Given the description of an element on the screen output the (x, y) to click on. 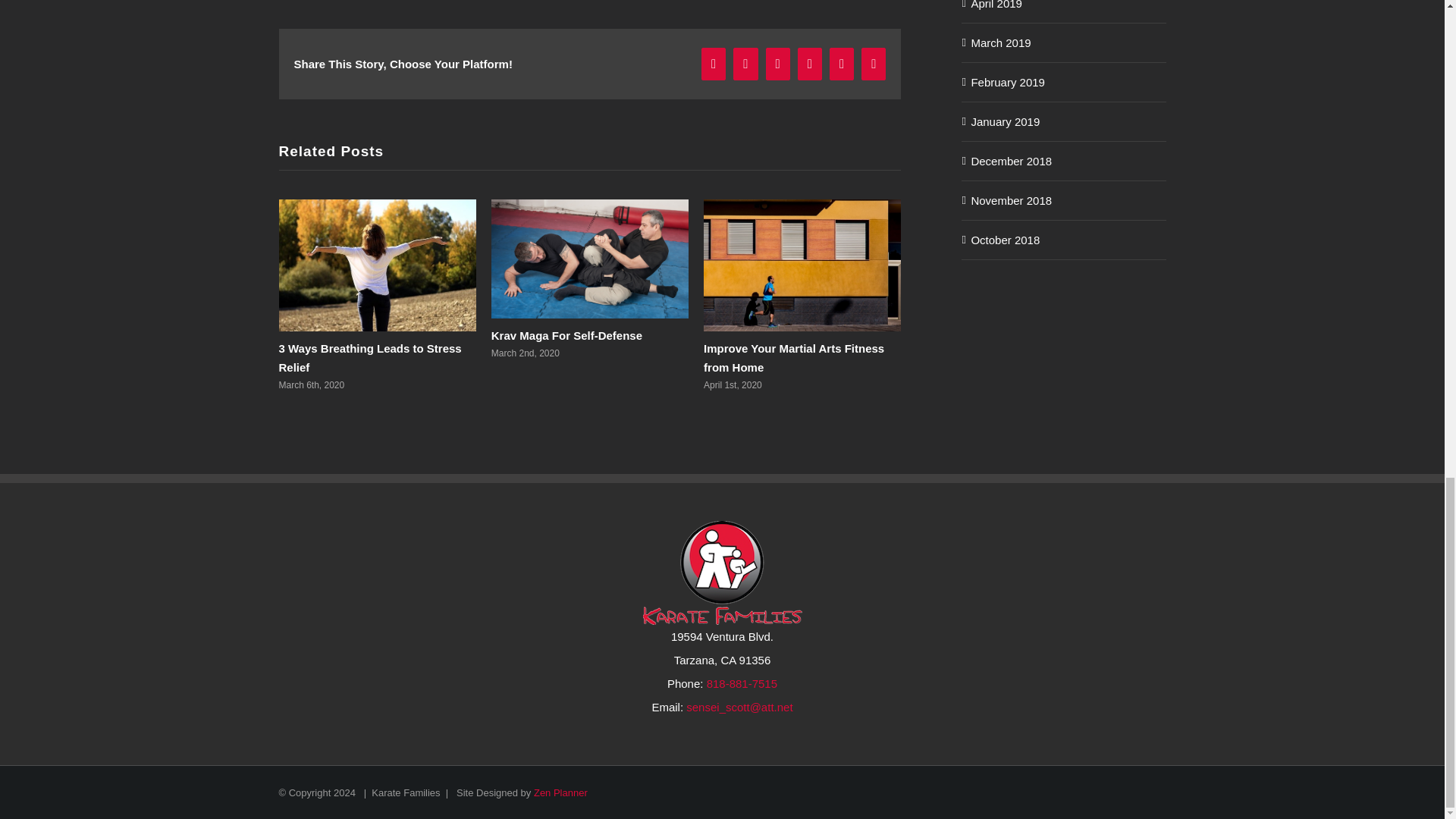
Improve Your Martial Arts Fitness from Home (793, 357)
Krav Maga For Self-Defense (567, 335)
3 Ways Breathing Leads to Stress Relief (370, 357)
3 Ways Breathing Leads to Stress Relief (370, 357)
